Given the description of an element on the screen output the (x, y) to click on. 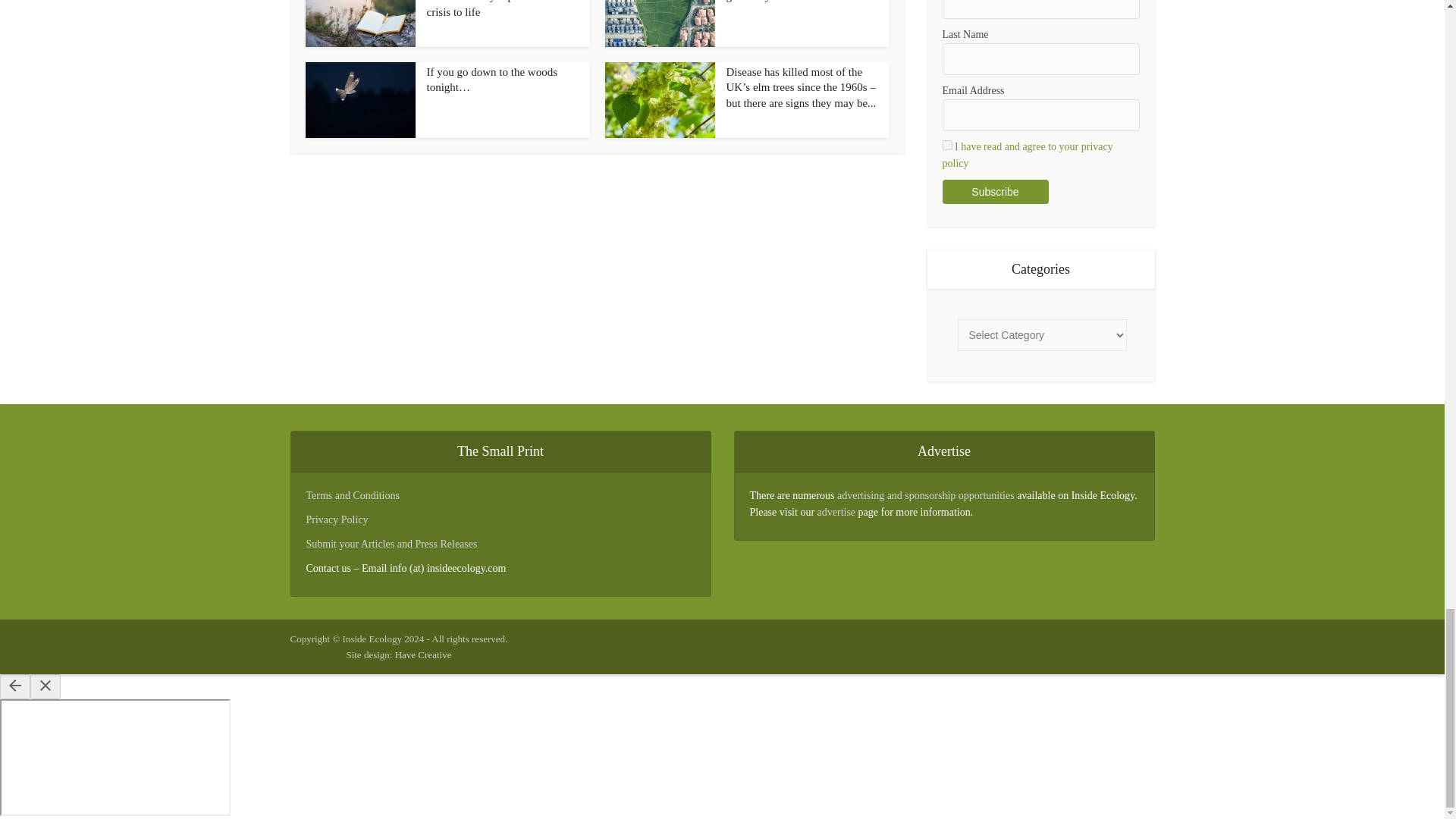
Subscribe (995, 191)
1 (947, 144)
